Given the description of an element on the screen output the (x, y) to click on. 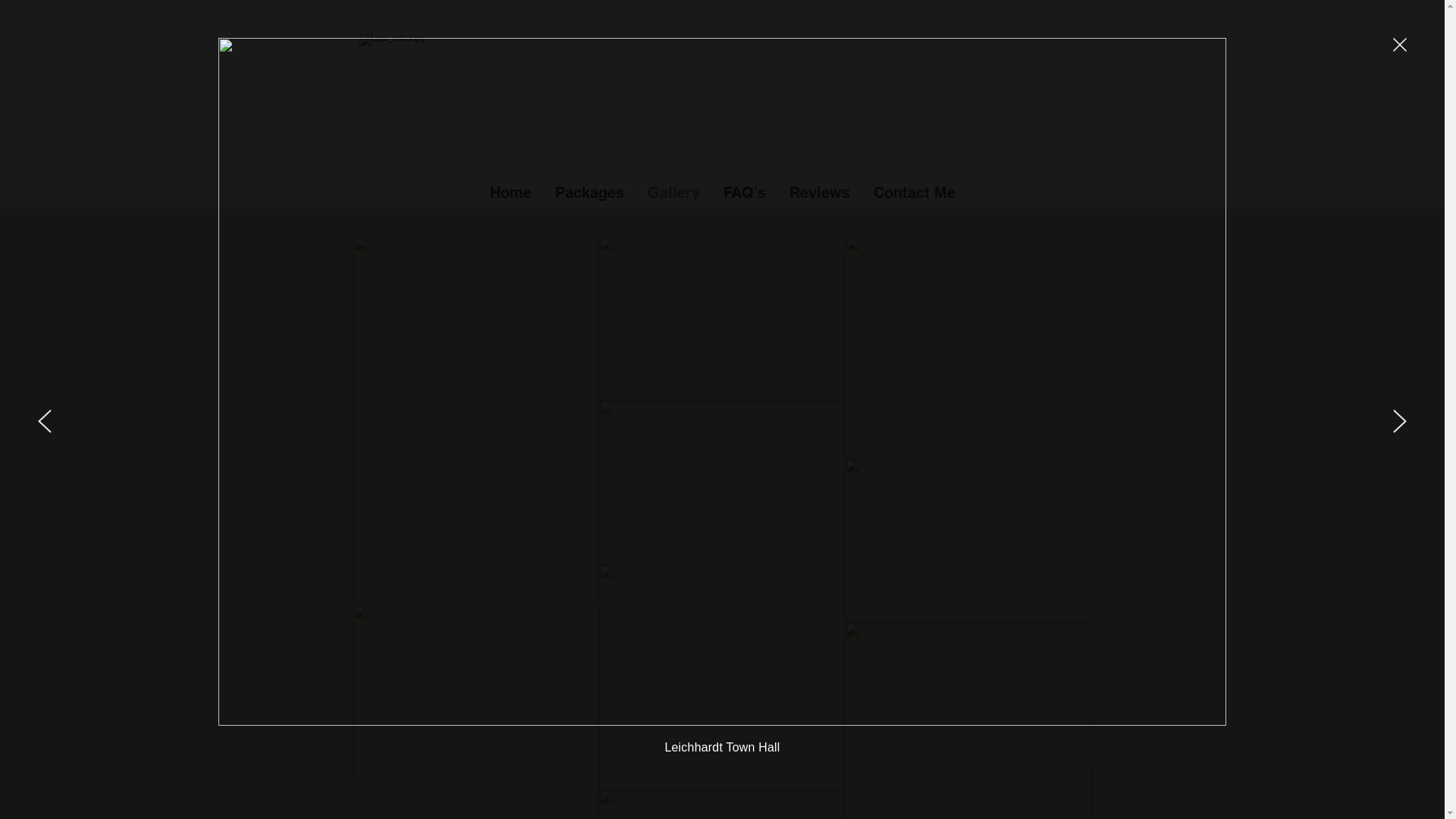
Reviews Element type: text (819, 192)
Gallery Element type: text (672, 192)
FAQ's Element type: text (743, 192)
Contact Me Element type: text (913, 192)
Packages Element type: text (588, 192)
Home Element type: text (509, 192)
